Given the description of an element on the screen output the (x, y) to click on. 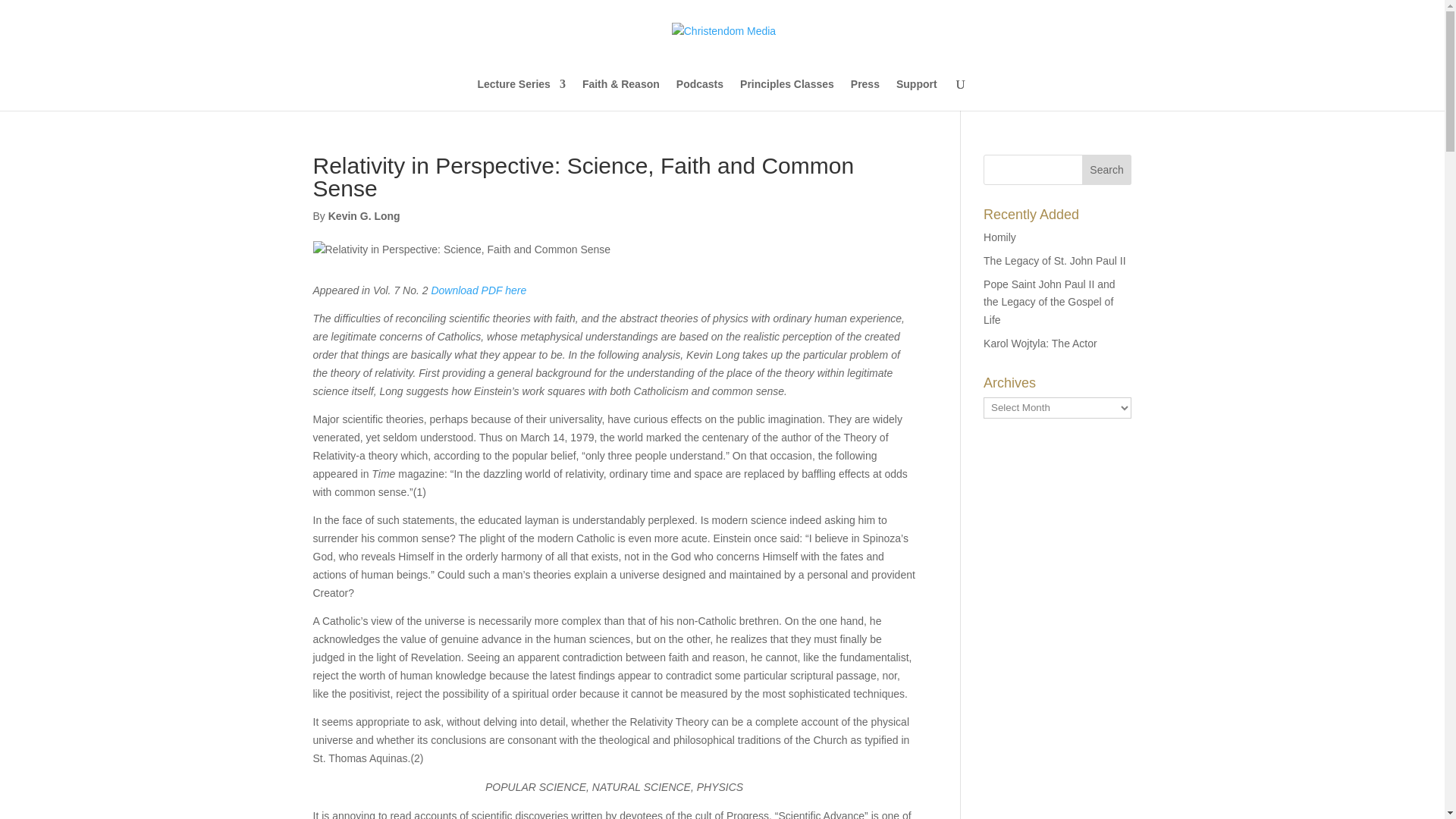
Support (916, 94)
Principles Classes (786, 94)
Press (864, 94)
Search (1106, 169)
Lecture Series (521, 94)
Karol Wojtyla: The Actor (1040, 343)
Podcasts (700, 94)
Pope Saint John Paul II and the Legacy of the Gospel of Life (1049, 302)
Homily (1000, 236)
